Given the description of an element on the screen output the (x, y) to click on. 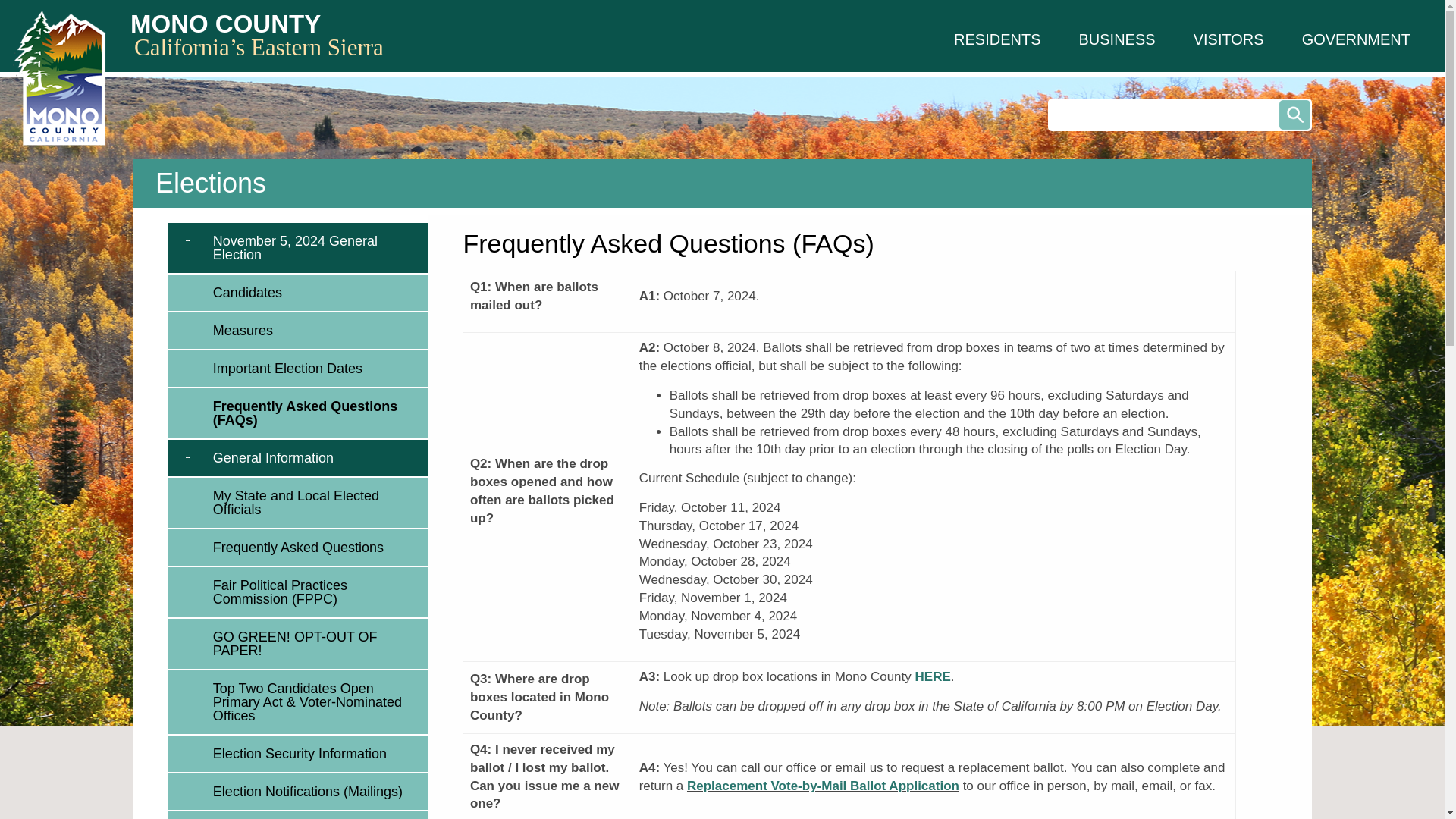
RESIDENTS (997, 39)
Search (1294, 114)
Enter the terms you wish to search for. (1179, 114)
